Given the description of an element on the screen output the (x, y) to click on. 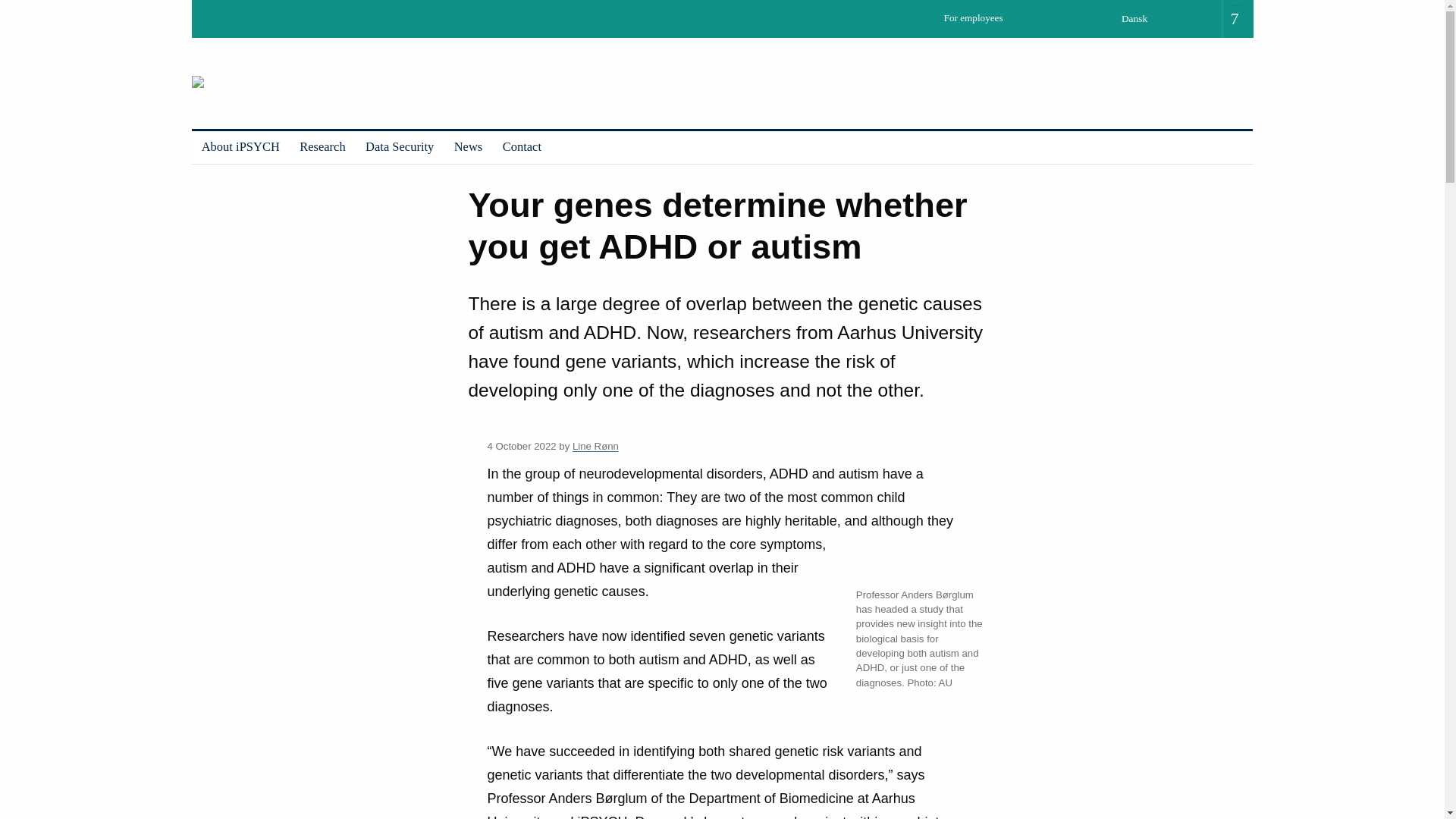
Dansk (1139, 18)
For employees (977, 22)
News (468, 147)
About iPSYCH (239, 147)
Dansk (1139, 18)
Type search criteria (1235, 19)
Search (17, 5)
Data Security (399, 147)
Research (322, 147)
Contact (521, 147)
